Given the description of an element on the screen output the (x, y) to click on. 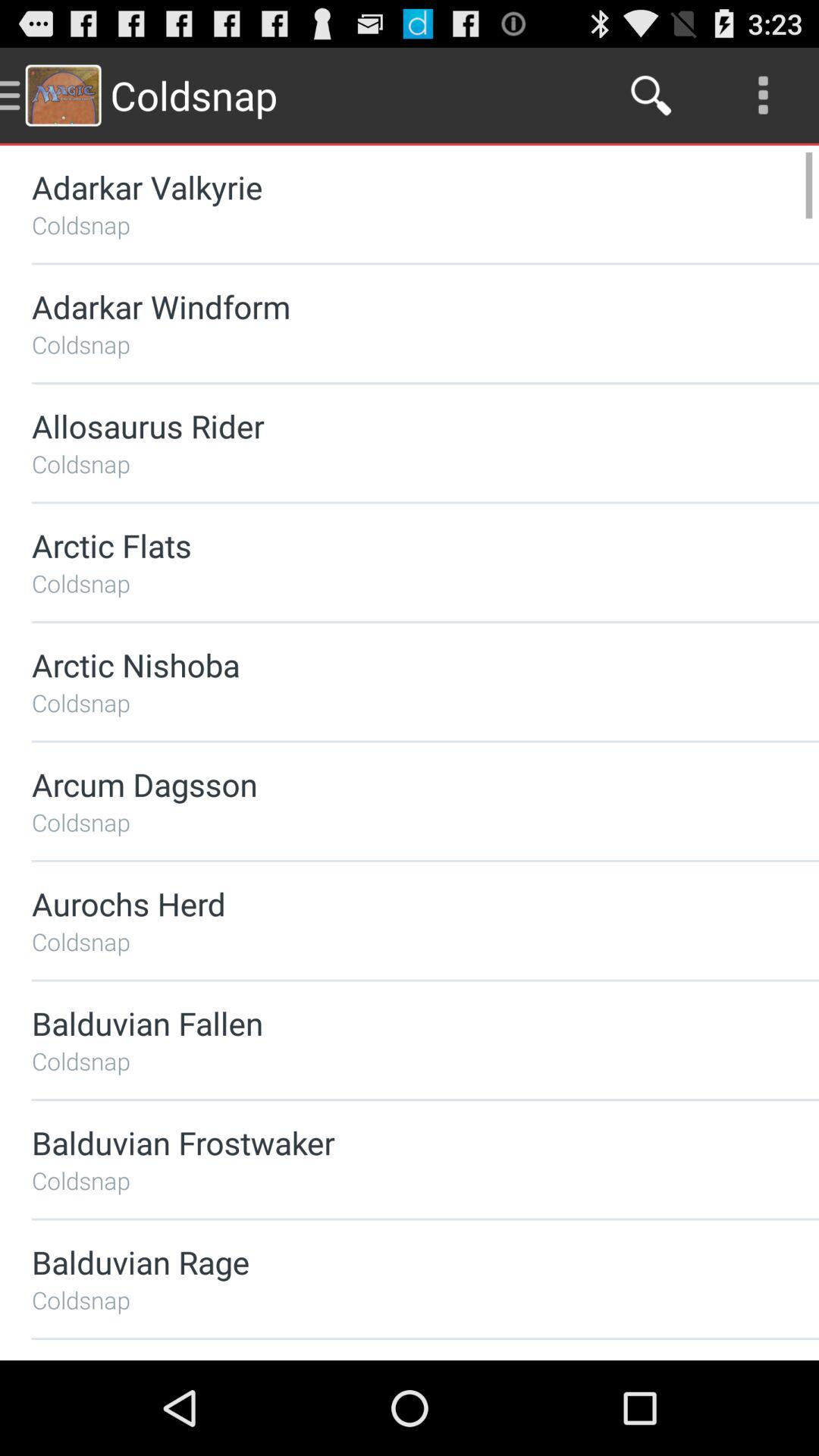
jump until the arctic flats (385, 545)
